Given the description of an element on the screen output the (x, y) to click on. 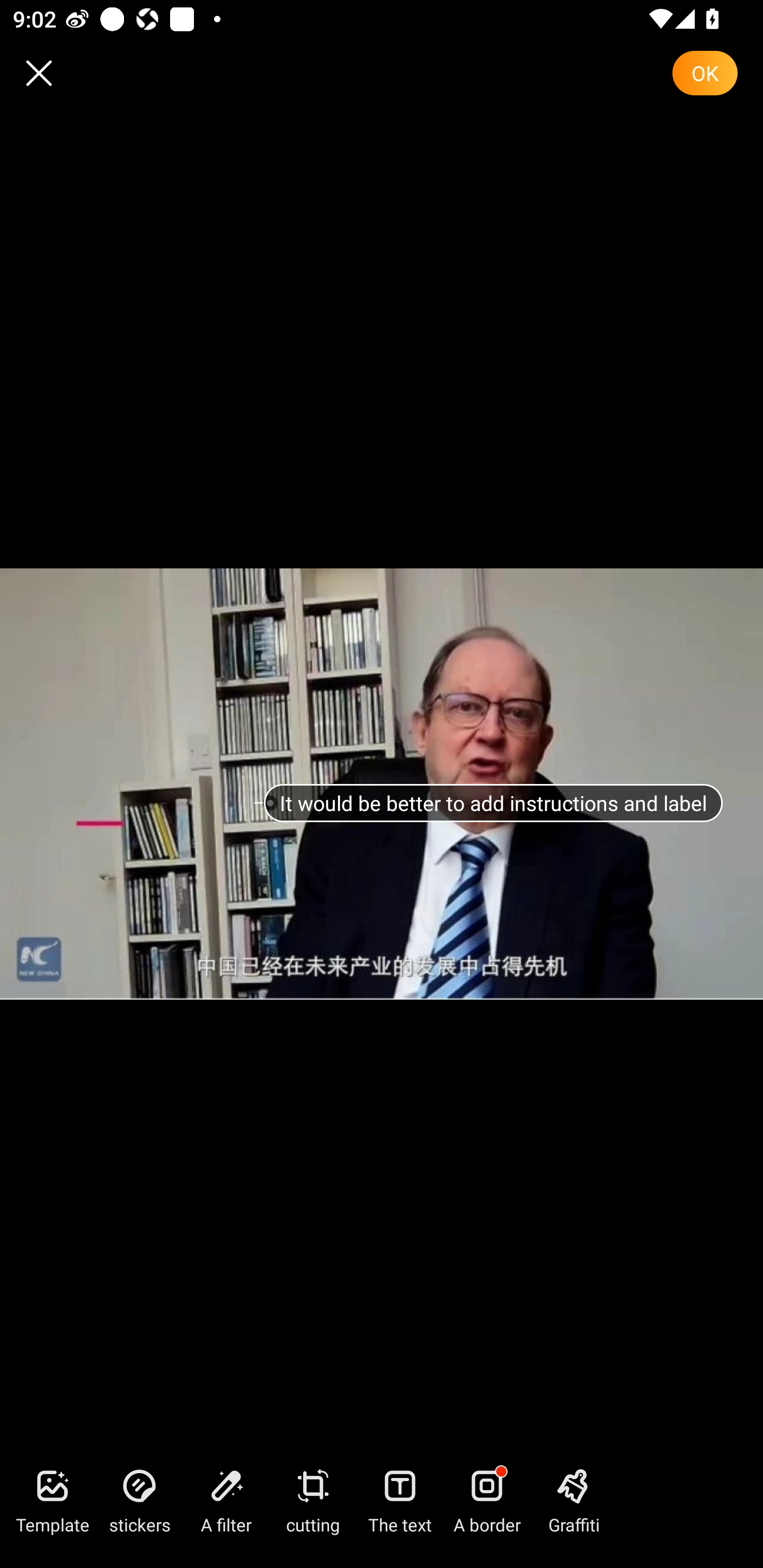
Back (39, 72)
OK Next (705, 72)
Template (52, 1500)
stickers (139, 1500)
A filter (226, 1500)
cutting (312, 1500)
The text (399, 1500)
A border (486, 1500)
Graffiti (573, 1500)
